Given the description of an element on the screen output the (x, y) to click on. 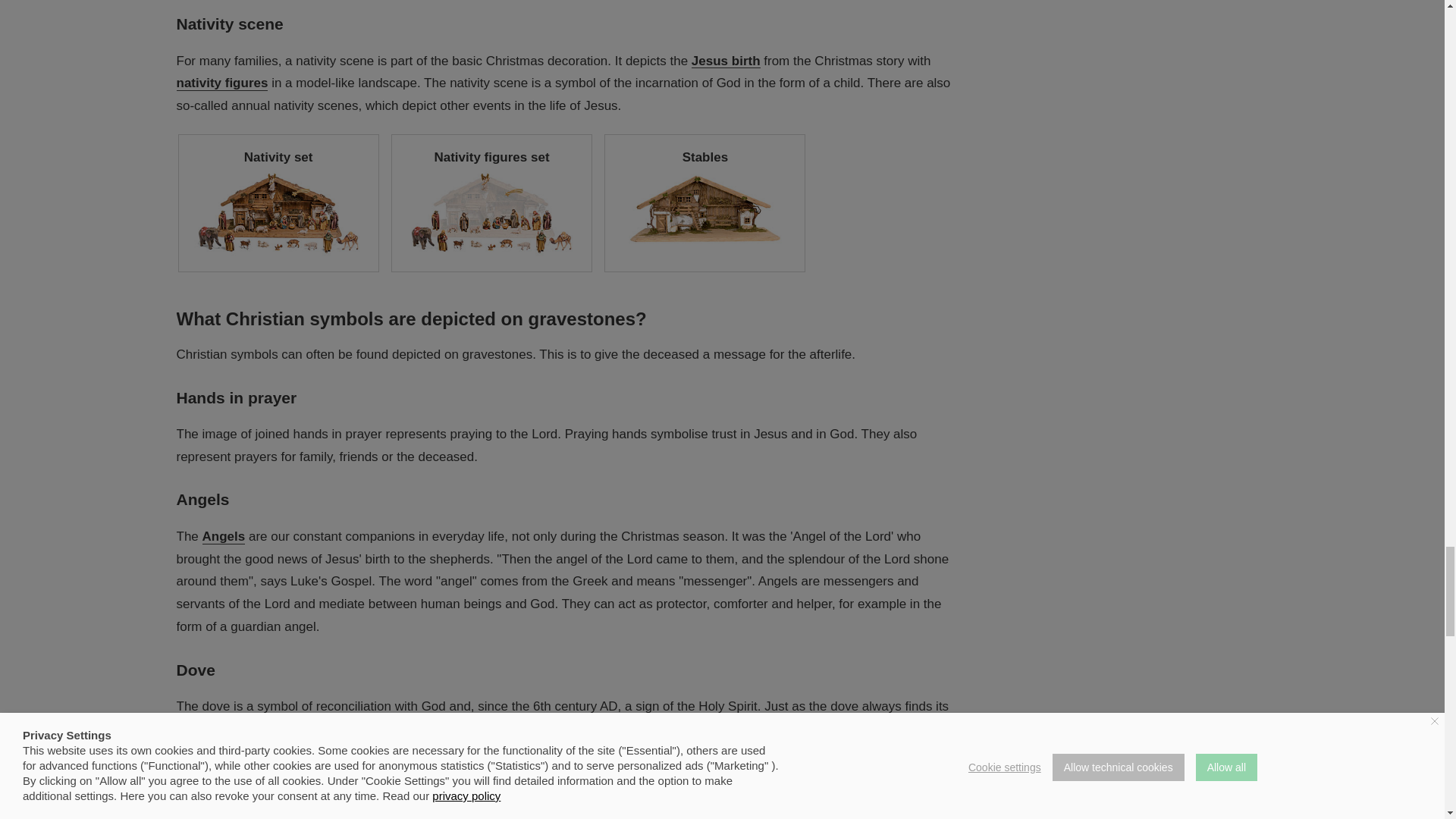
Nativity figures set (491, 203)
Buy high quality crib stable made of wood (705, 203)
Nativity figures (221, 83)
wooden nativity set (278, 203)
